Given the description of an element on the screen output the (x, y) to click on. 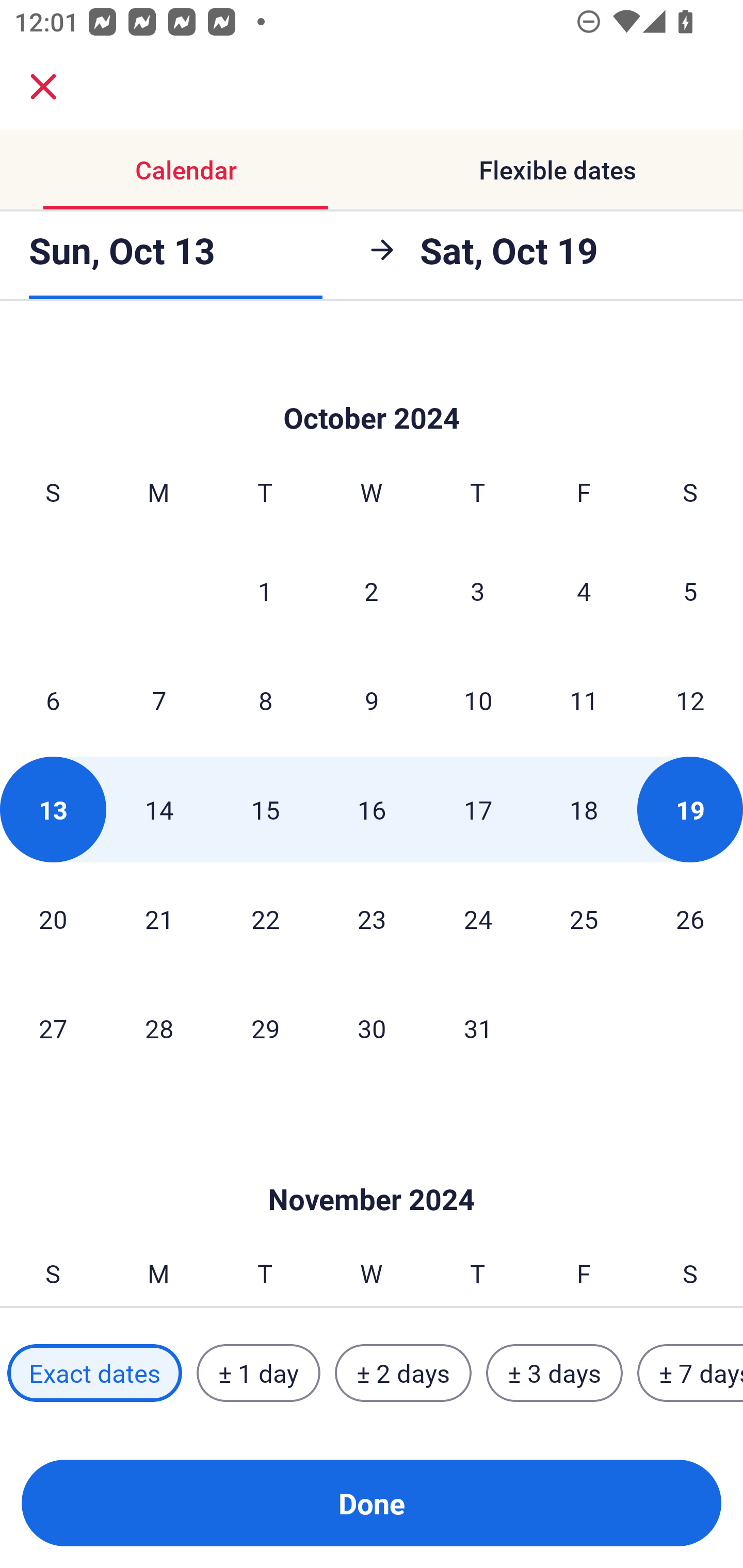
close. (43, 86)
Flexible dates (557, 170)
Skip to Done (371, 387)
1 Tuesday, October 1, 2024 (264, 590)
2 Wednesday, October 2, 2024 (371, 590)
3 Thursday, October 3, 2024 (477, 590)
4 Friday, October 4, 2024 (584, 590)
5 Saturday, October 5, 2024 (690, 590)
6 Sunday, October 6, 2024 (53, 699)
7 Monday, October 7, 2024 (159, 699)
8 Tuesday, October 8, 2024 (265, 699)
9 Wednesday, October 9, 2024 (371, 699)
10 Thursday, October 10, 2024 (477, 699)
11 Friday, October 11, 2024 (584, 699)
12 Saturday, October 12, 2024 (690, 699)
20 Sunday, October 20, 2024 (53, 918)
21 Monday, October 21, 2024 (159, 918)
22 Tuesday, October 22, 2024 (265, 918)
23 Wednesday, October 23, 2024 (371, 918)
24 Thursday, October 24, 2024 (477, 918)
25 Friday, October 25, 2024 (584, 918)
26 Saturday, October 26, 2024 (690, 918)
27 Sunday, October 27, 2024 (53, 1027)
28 Monday, October 28, 2024 (159, 1027)
29 Tuesday, October 29, 2024 (265, 1027)
30 Wednesday, October 30, 2024 (371, 1027)
31 Thursday, October 31, 2024 (477, 1027)
Skip to Done (371, 1168)
Exact dates (94, 1372)
± 1 day (258, 1372)
± 2 days (403, 1372)
± 3 days (553, 1372)
± 7 days (690, 1372)
Done (371, 1502)
